Given the description of an element on the screen output the (x, y) to click on. 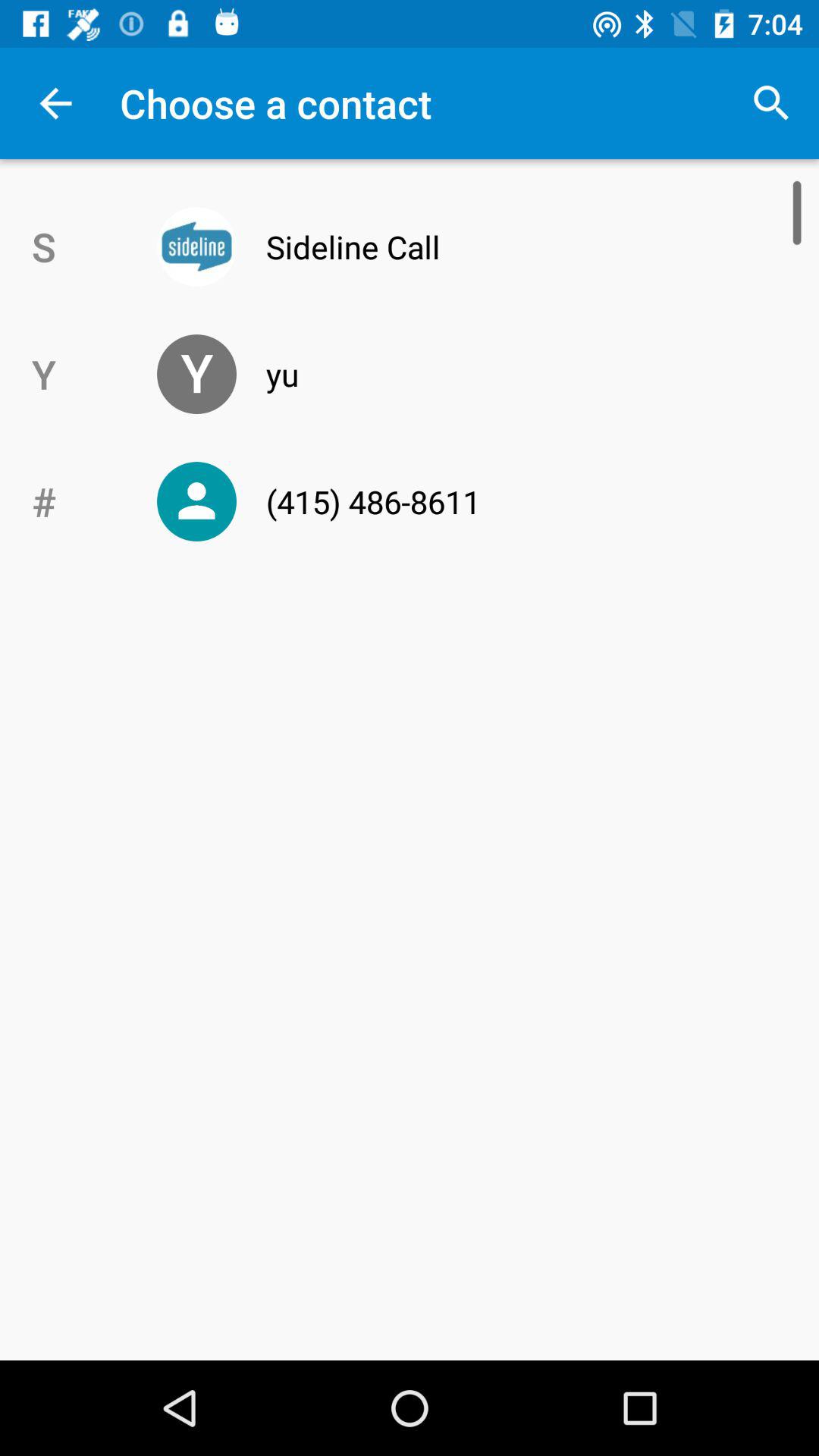
choose the app above the sideline call icon (771, 103)
